Given the description of an element on the screen output the (x, y) to click on. 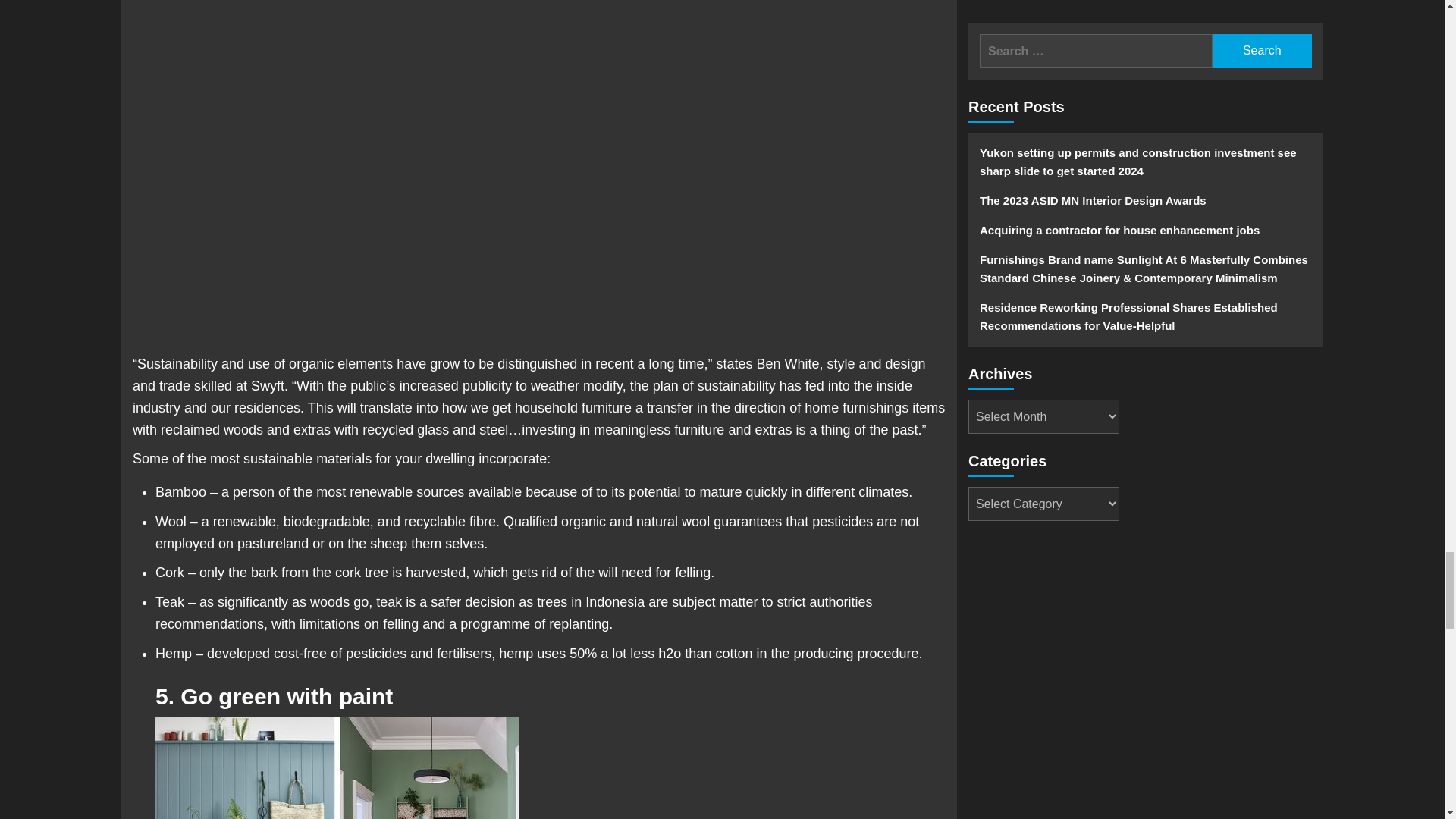
Swyft (266, 385)
Sustainable home design (337, 767)
